Given the description of an element on the screen output the (x, y) to click on. 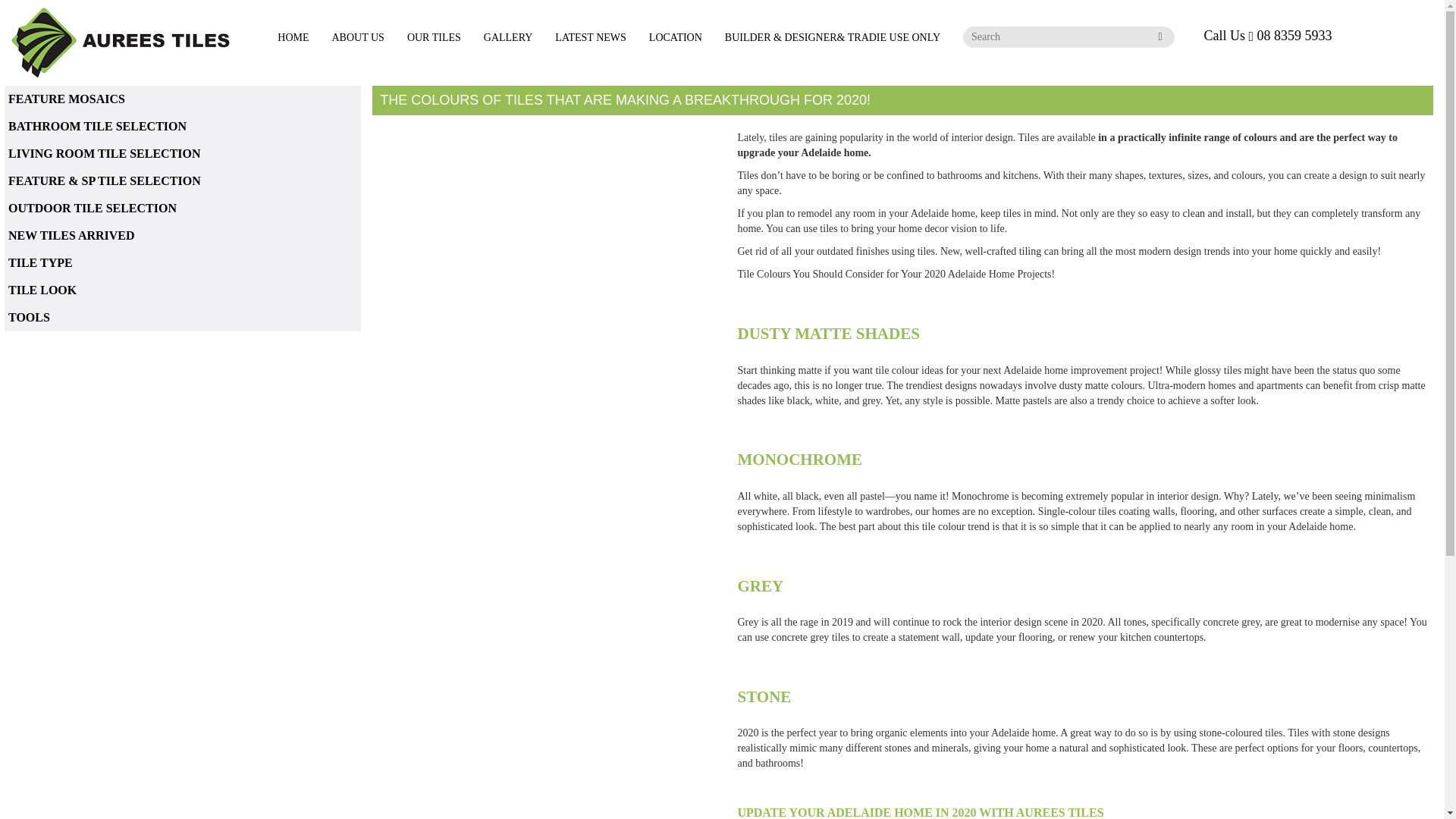
BATHROOM TILE SELECTION (182, 126)
FEATURE MOSAICS (182, 99)
LOCATION (675, 37)
TILE TYPE (182, 262)
Call Us 08 8359 5933 (1268, 35)
GALLERY (507, 37)
LIVING ROOM TILE SELECTION (182, 153)
OUTDOOR TILE SELECTION (182, 207)
NEW TILES ARRIVED (182, 235)
LATEST NEWS (590, 37)
